Given the description of an element on the screen output the (x, y) to click on. 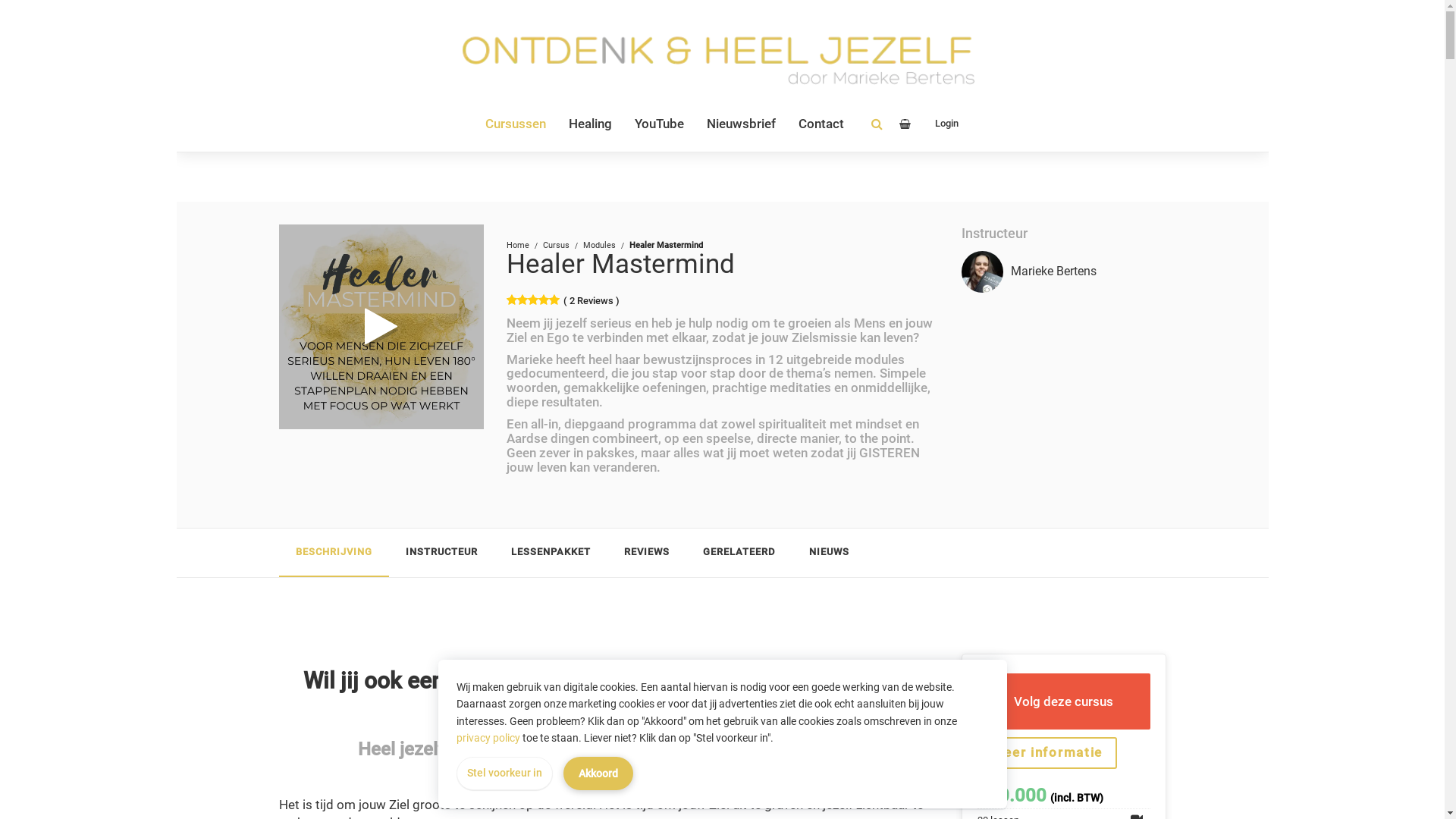
Healer Mastermind Element type: text (620, 263)
Healing Element type: text (589, 123)
BESCHRIJVING Element type: text (334, 552)
privacy policy Element type: text (488, 737)
REVIEWS Element type: text (645, 552)
NIEUWS Element type: text (828, 552)
Healer Mastermind Element type: hover (381, 326)
INSTRUCTEUR Element type: text (440, 552)
YouTube Element type: text (658, 123)
Volg deze cursus Element type: text (1062, 701)
Contact Element type: text (820, 123)
Nieuwsbrief Element type: text (740, 123)
LESSENPAKKET Element type: text (550, 552)
Cursussen Element type: text (515, 123)
Akkoord Element type: text (598, 773)
Modules Element type: text (598, 245)
Stel voorkeur in Element type: text (504, 773)
Home Element type: text (517, 245)
Login Element type: text (942, 123)
Marieke Bertens Element type: text (1052, 270)
Meer informatie Element type: text (1046, 752)
GERELATEERD Element type: text (738, 552)
Cursus Element type: text (555, 245)
